Given the description of an element on the screen output the (x, y) to click on. 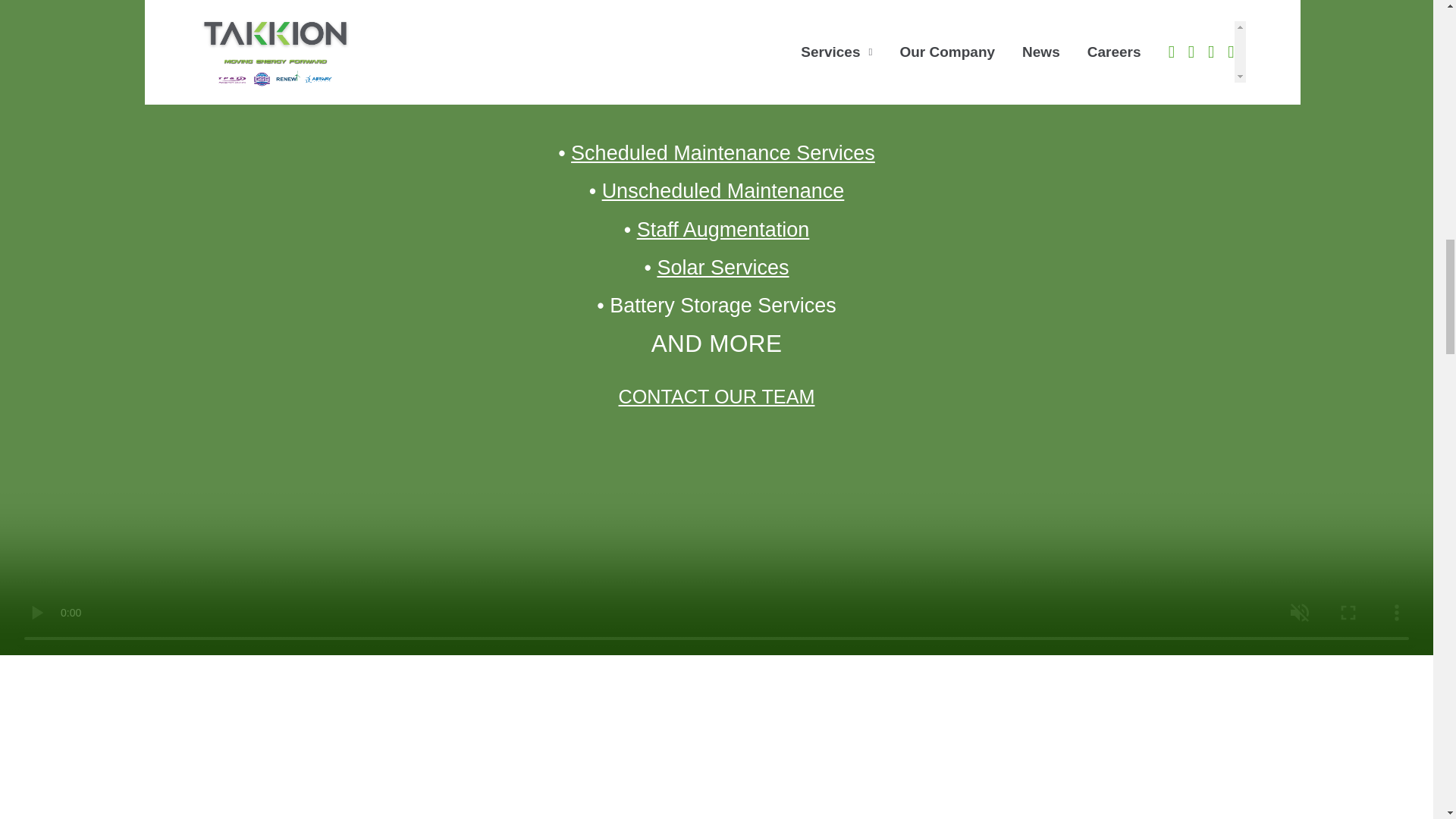
CONTACT OUR TEAM (716, 397)
Solar Services (722, 267)
Unscheduled Maintenance (723, 190)
Staff Augmentation (723, 229)
Scheduled Maintenance Services (722, 152)
